Given the description of an element on the screen output the (x, y) to click on. 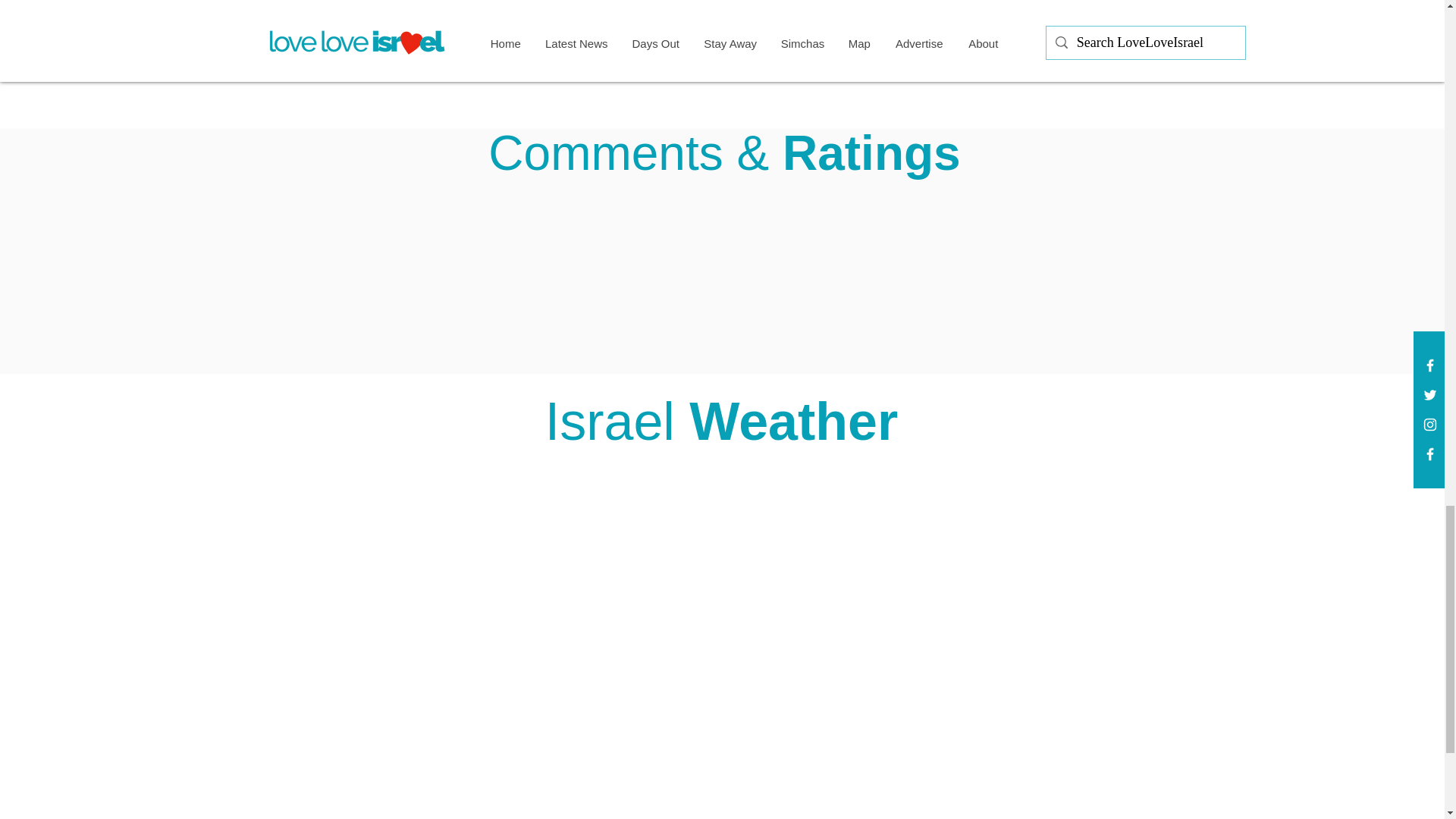
Post not marked as liked (804, 45)
0 (555, 46)
0 (937, 46)
0 (445, 46)
